Given the description of an element on the screen output the (x, y) to click on. 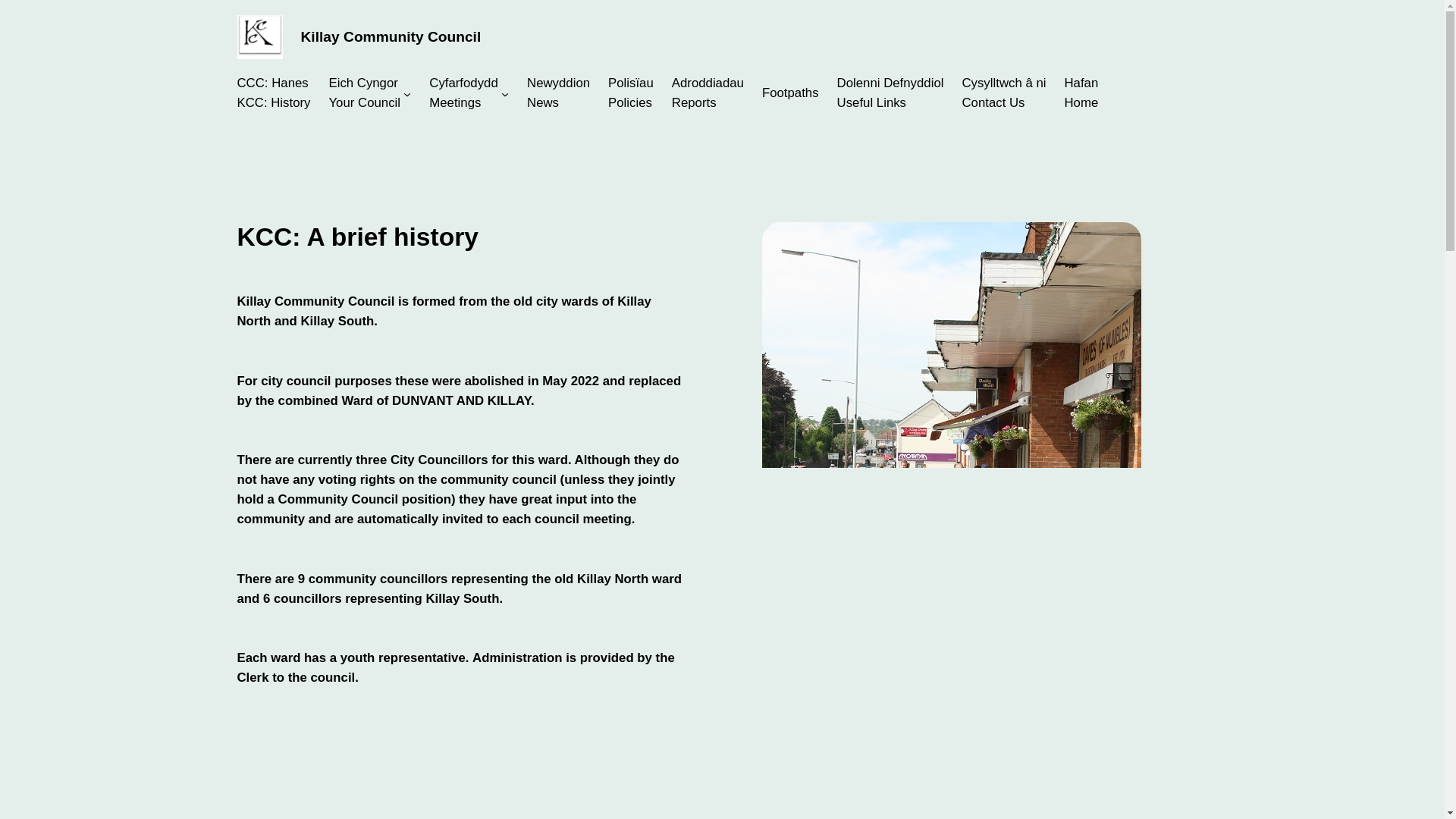
Killay Community Council (558, 93)
Footpaths (364, 93)
